Given the description of an element on the screen output the (x, y) to click on. 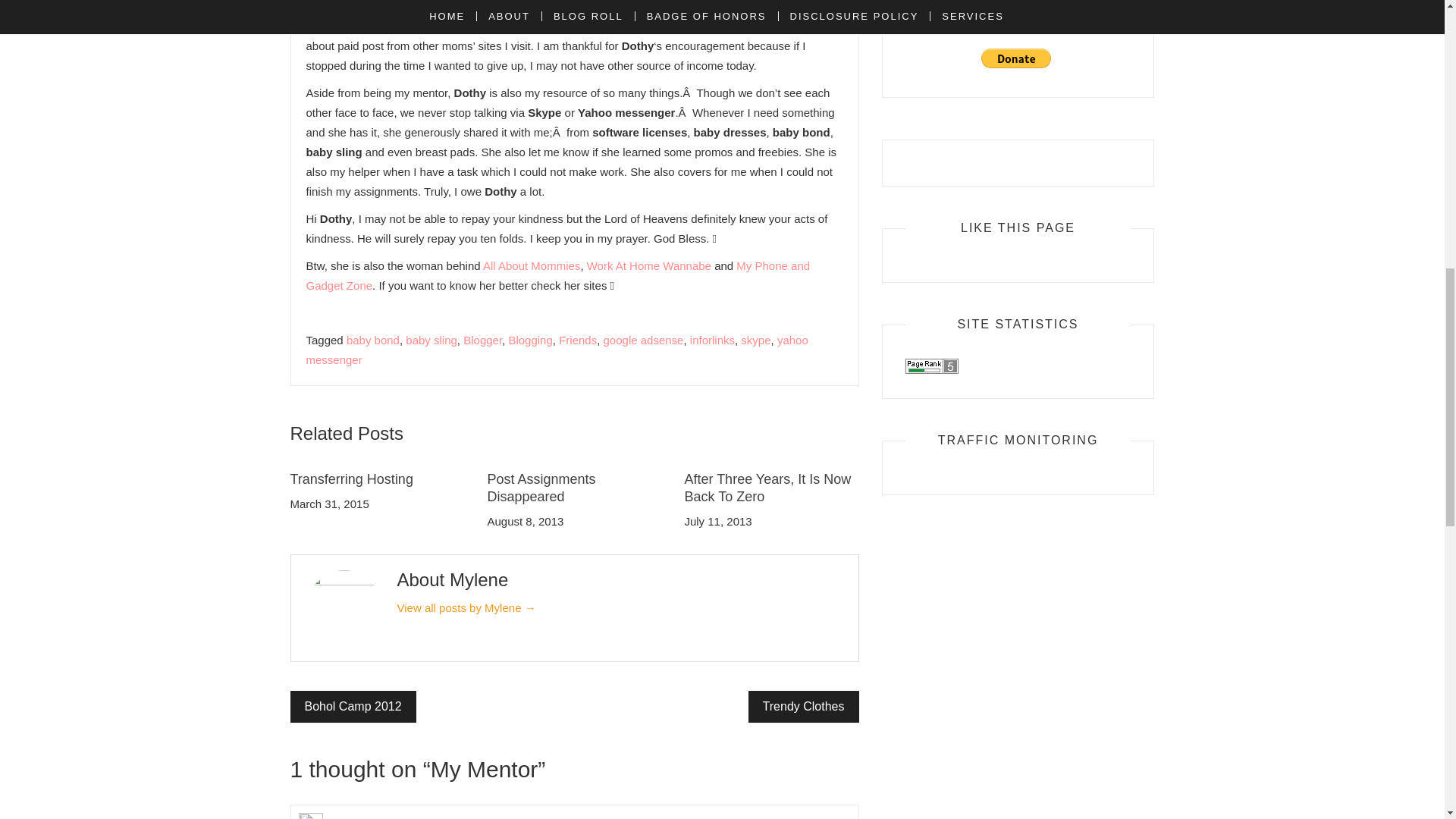
baby bond (372, 339)
google adsense (644, 339)
Work At Home Wannabe (648, 265)
Transferring Hosting (350, 478)
After Three Years, It Is Now Back To Zero (767, 487)
All About Mommies (531, 265)
Work At Home Wannabe (648, 265)
All About Mommies (531, 265)
yahoo messenger (556, 349)
My Phone and Gadget Zone (557, 275)
Page Ranking Tool (931, 364)
Bohol Camp 2012 (351, 706)
Post Assignments Disappeared (540, 487)
Friends (577, 339)
Trendy Clothes (803, 706)
